Given the description of an element on the screen output the (x, y) to click on. 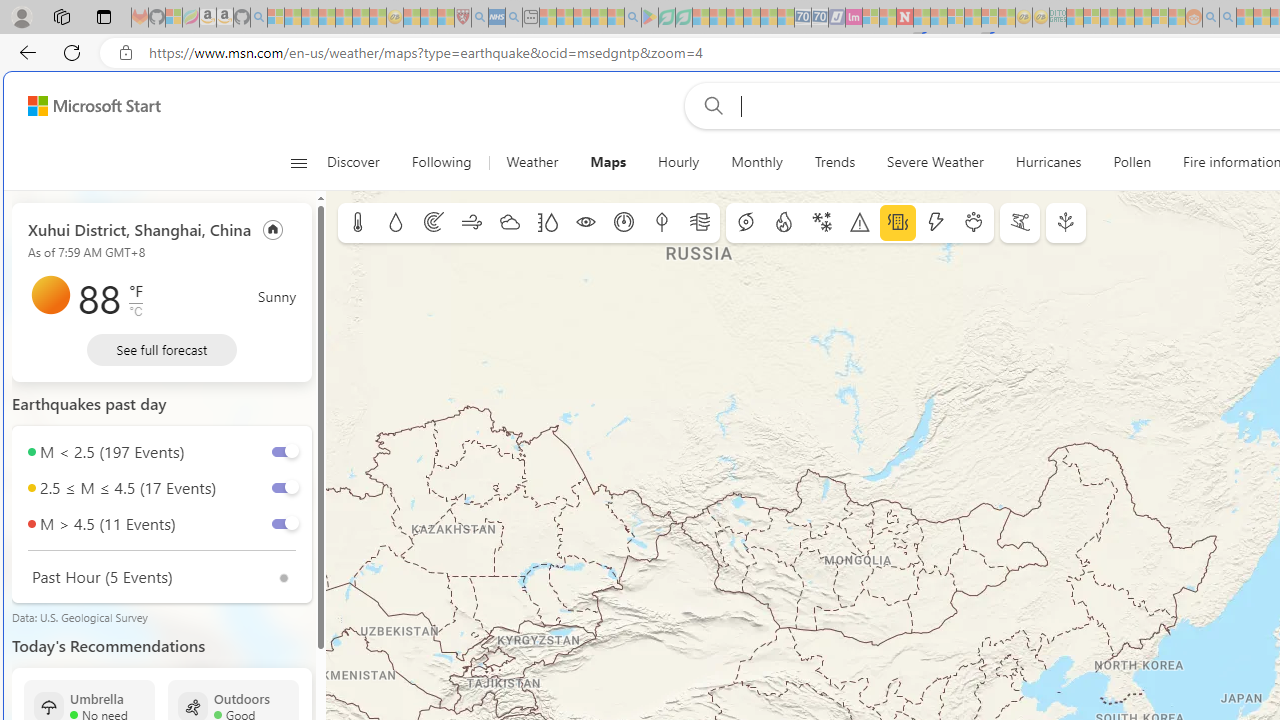
Severe weather (860, 223)
Maps (607, 162)
Fire information (783, 223)
Weather (532, 162)
Temperature (358, 223)
Microsoft account | Privacy - Sleeping (1091, 17)
Pollen (1132, 162)
Sea level pressure (623, 223)
Hourly (678, 162)
New Report Confirms 2023 Was Record Hot | Watch - Sleeping (343, 17)
Ski conditions (1020, 223)
Microsoft-Report a Concern to Bing - Sleeping (173, 17)
